Given the description of an element on the screen output the (x, y) to click on. 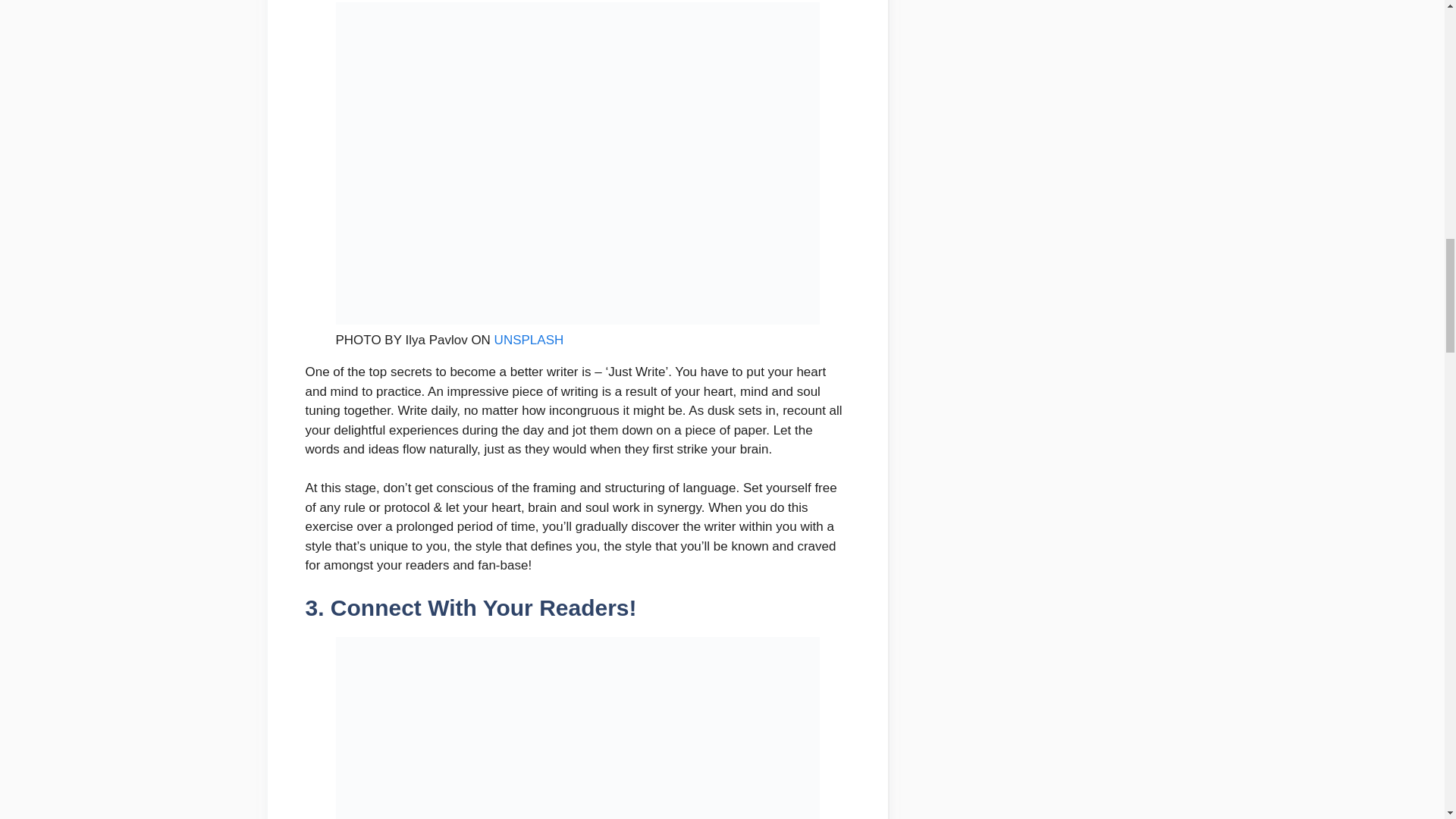
UNSPLASH (529, 339)
